Given the description of an element on the screen output the (x, y) to click on. 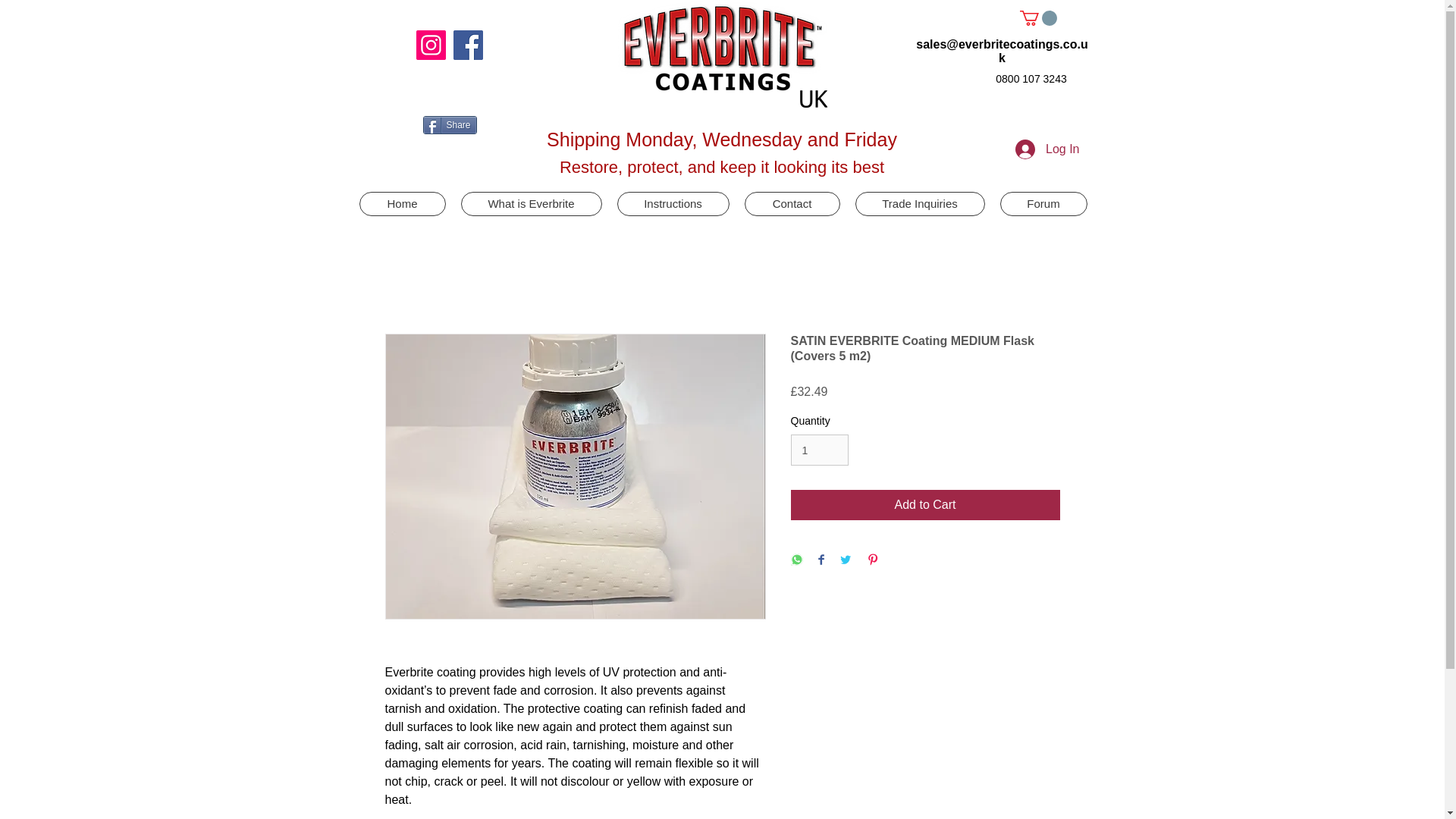
Trade Inquiries (920, 203)
What is Everbrite (531, 203)
Home (402, 203)
Log In (1046, 149)
Contact (792, 203)
Share (450, 125)
Forum (1042, 203)
Share (450, 125)
Everbrite Coatings UK, Restore coatings, Protect coatings (722, 53)
1 (818, 450)
